Given the description of an element on the screen output the (x, y) to click on. 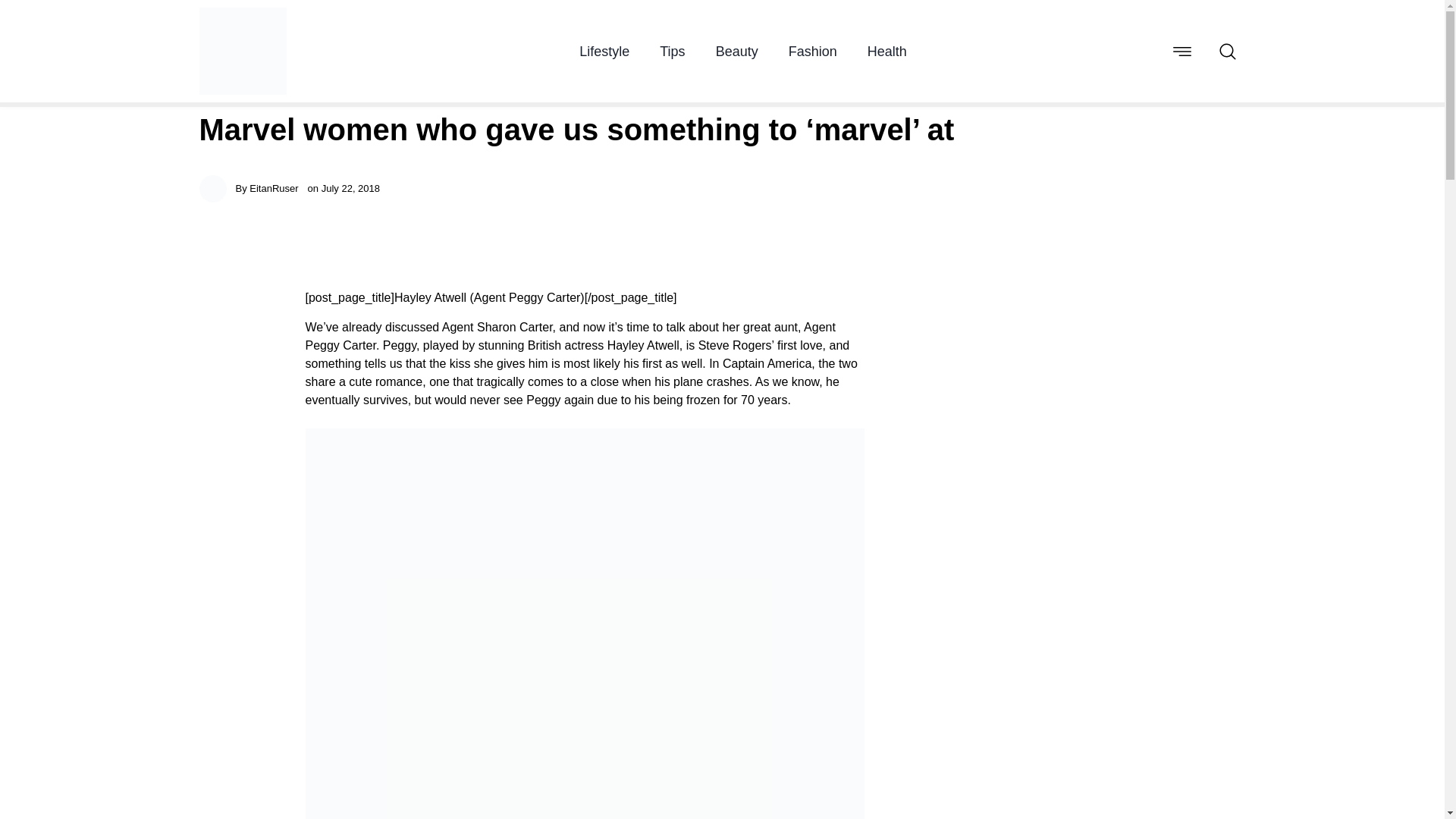
Health (887, 50)
Beauty (737, 50)
Fashion (813, 50)
Lifestyle (603, 50)
